Given the description of an element on the screen output the (x, y) to click on. 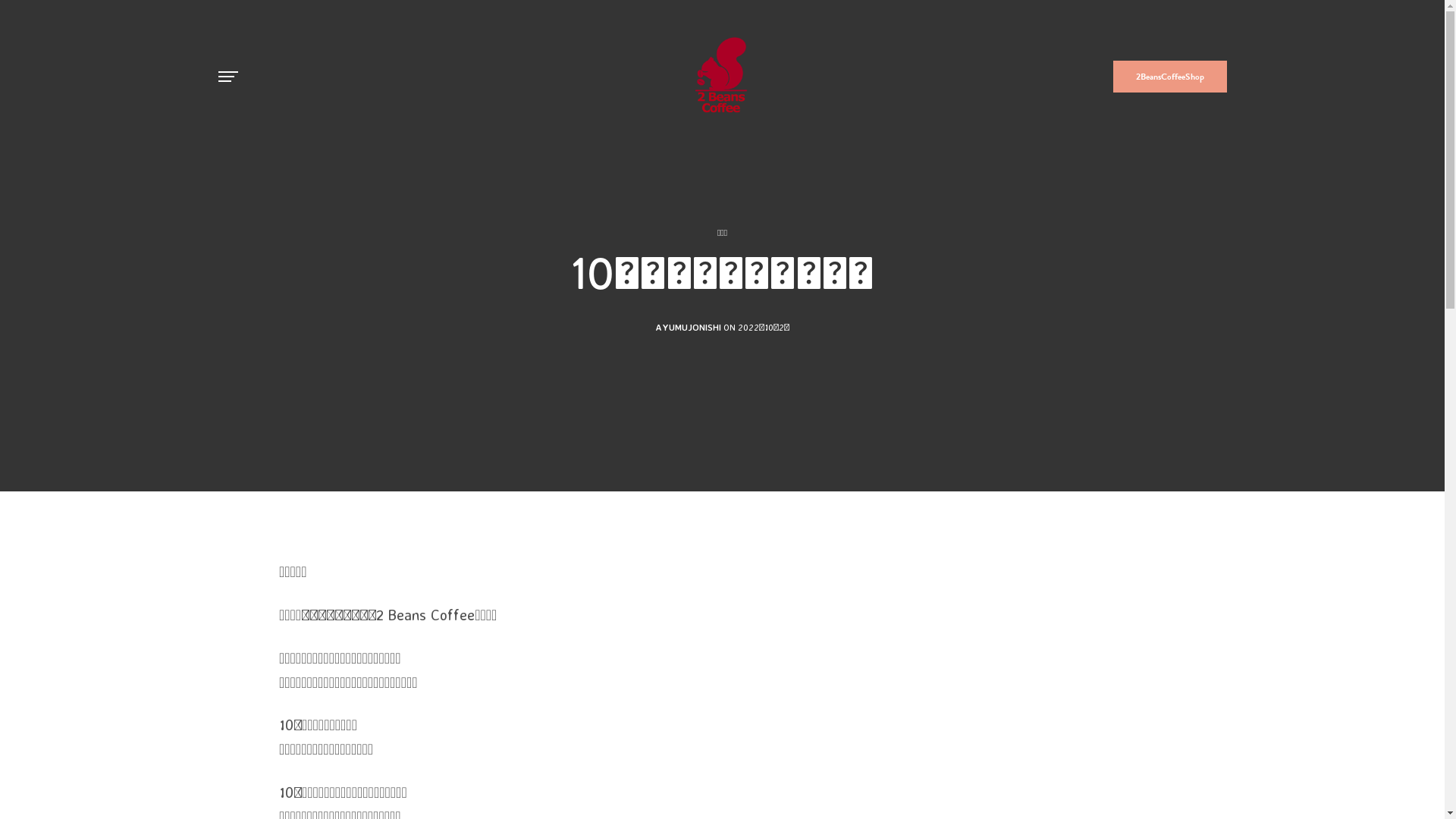
2 Beans Coffee Element type: hover (722, 76)
2BeansCoffeeShop Element type: text (1169, 76)
AYUMUJONISHI Element type: text (688, 327)
